Given the description of an element on the screen output the (x, y) to click on. 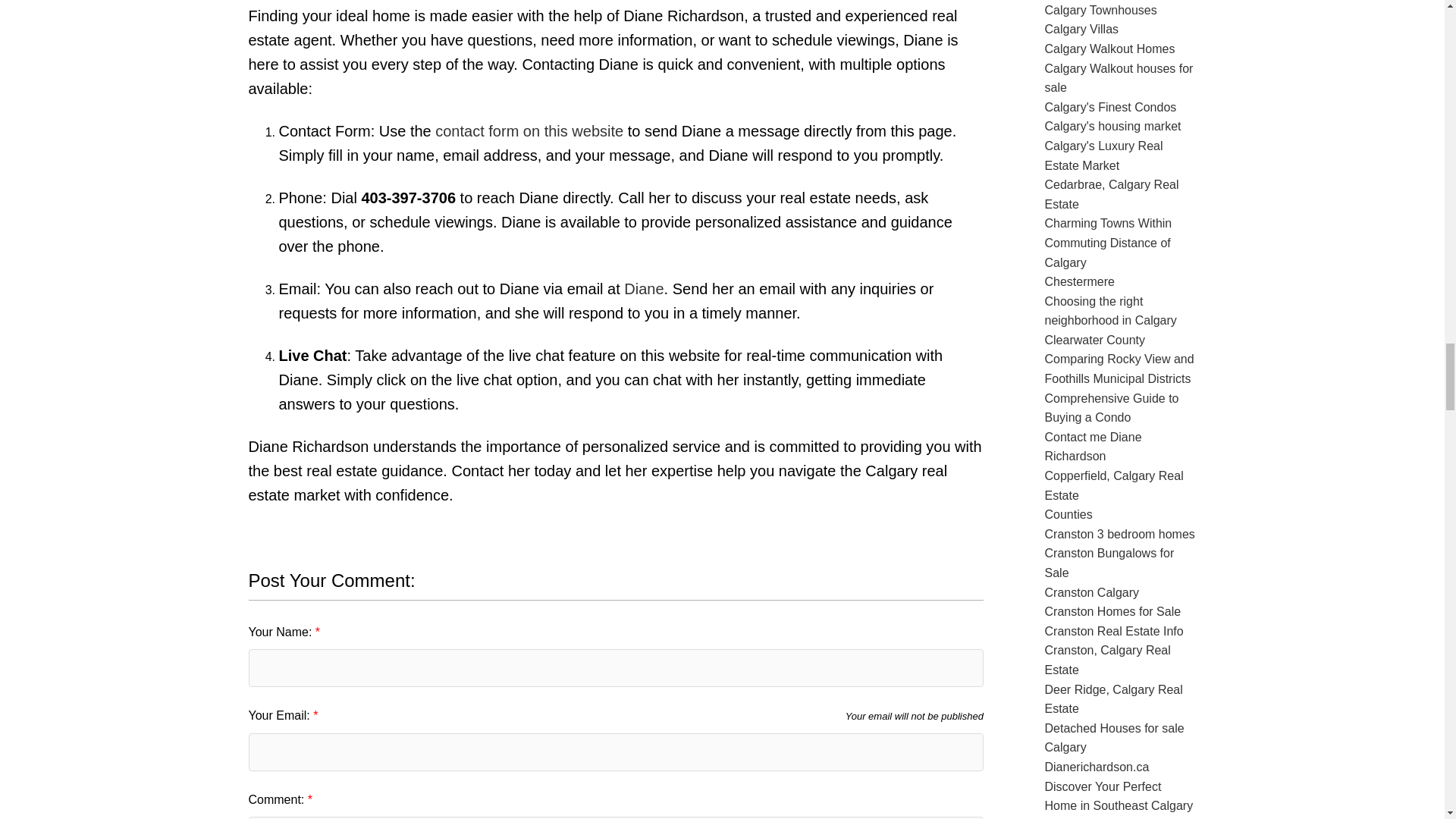
Get in touch with Diane (643, 288)
Diane Richardson (529, 130)
